Given the description of an element on the screen output the (x, y) to click on. 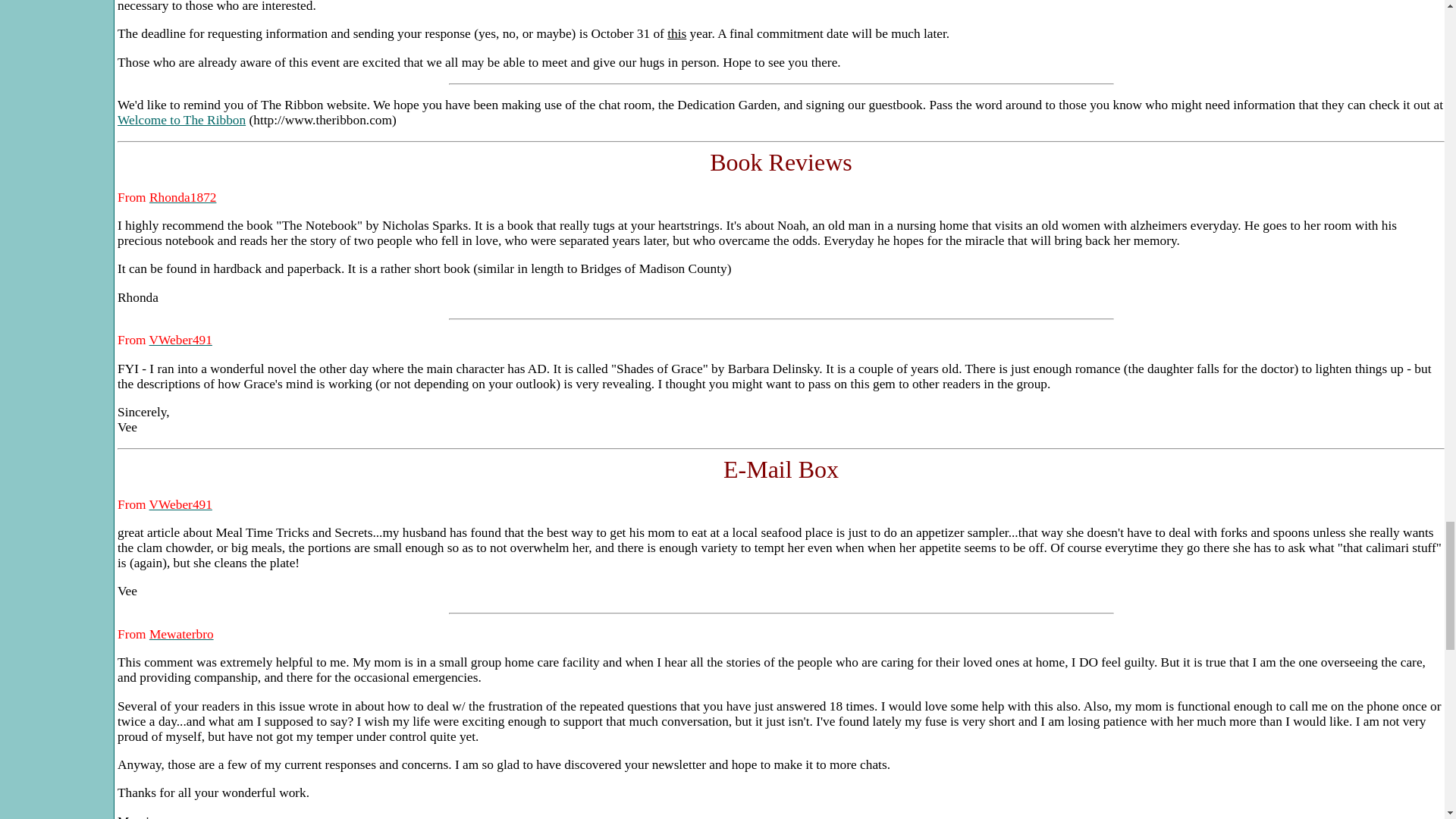
Rhonda1872 (182, 197)
Welcome to The Ribbon (181, 120)
